Given the description of an element on the screen output the (x, y) to click on. 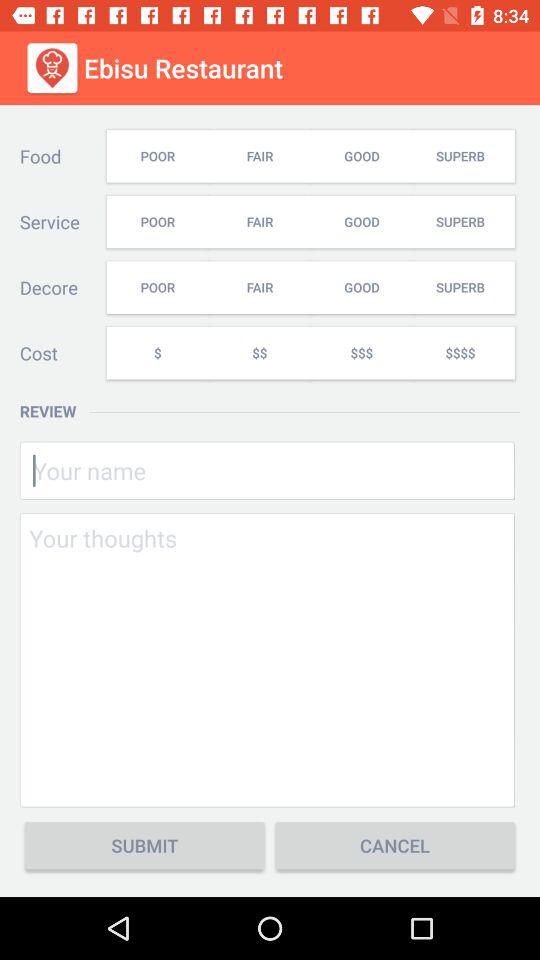
select $$$ (361, 352)
